Given the description of an element on the screen output the (x, y) to click on. 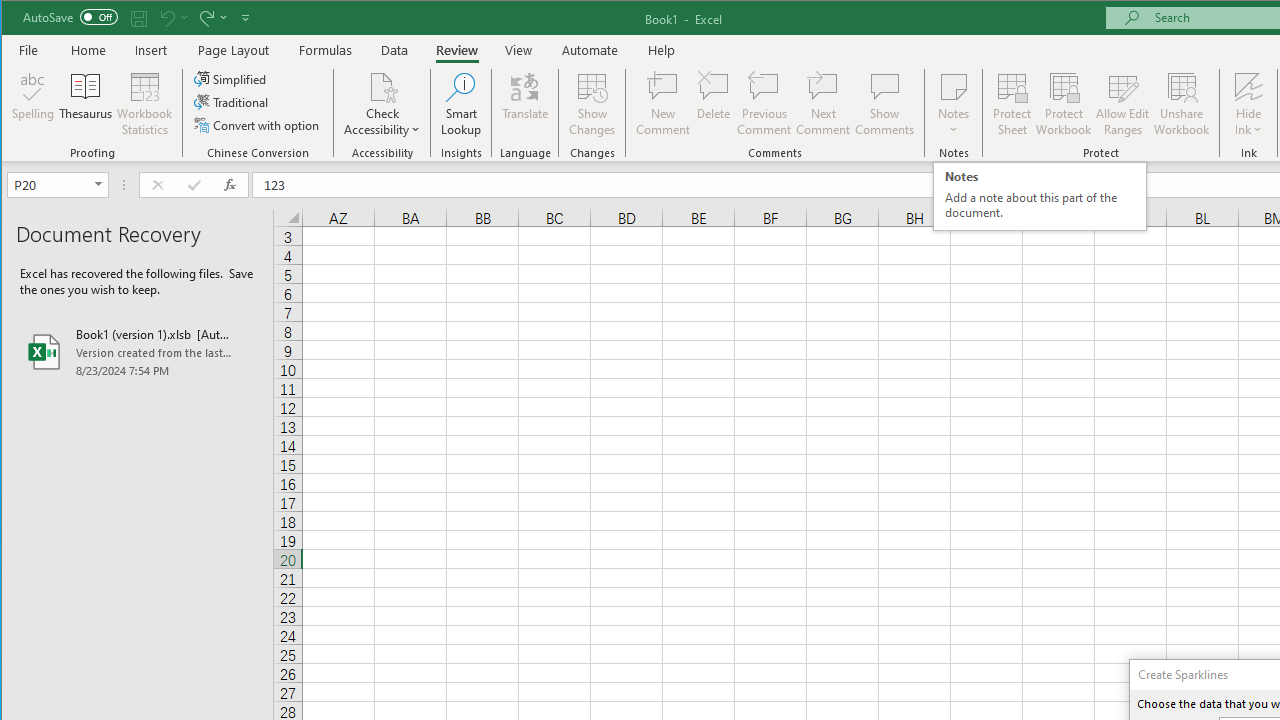
Open (99, 184)
Page Layout (233, 50)
Convert with option (258, 124)
Name Box (57, 184)
Insert (151, 50)
Check Accessibility (381, 86)
Thesaurus... (86, 104)
Show Changes (592, 104)
Hide Ink (1248, 86)
Delete (713, 104)
More Options (1248, 123)
View (518, 50)
Home (88, 50)
Quick Access Toolbar (137, 17)
